Given the description of an element on the screen output the (x, y) to click on. 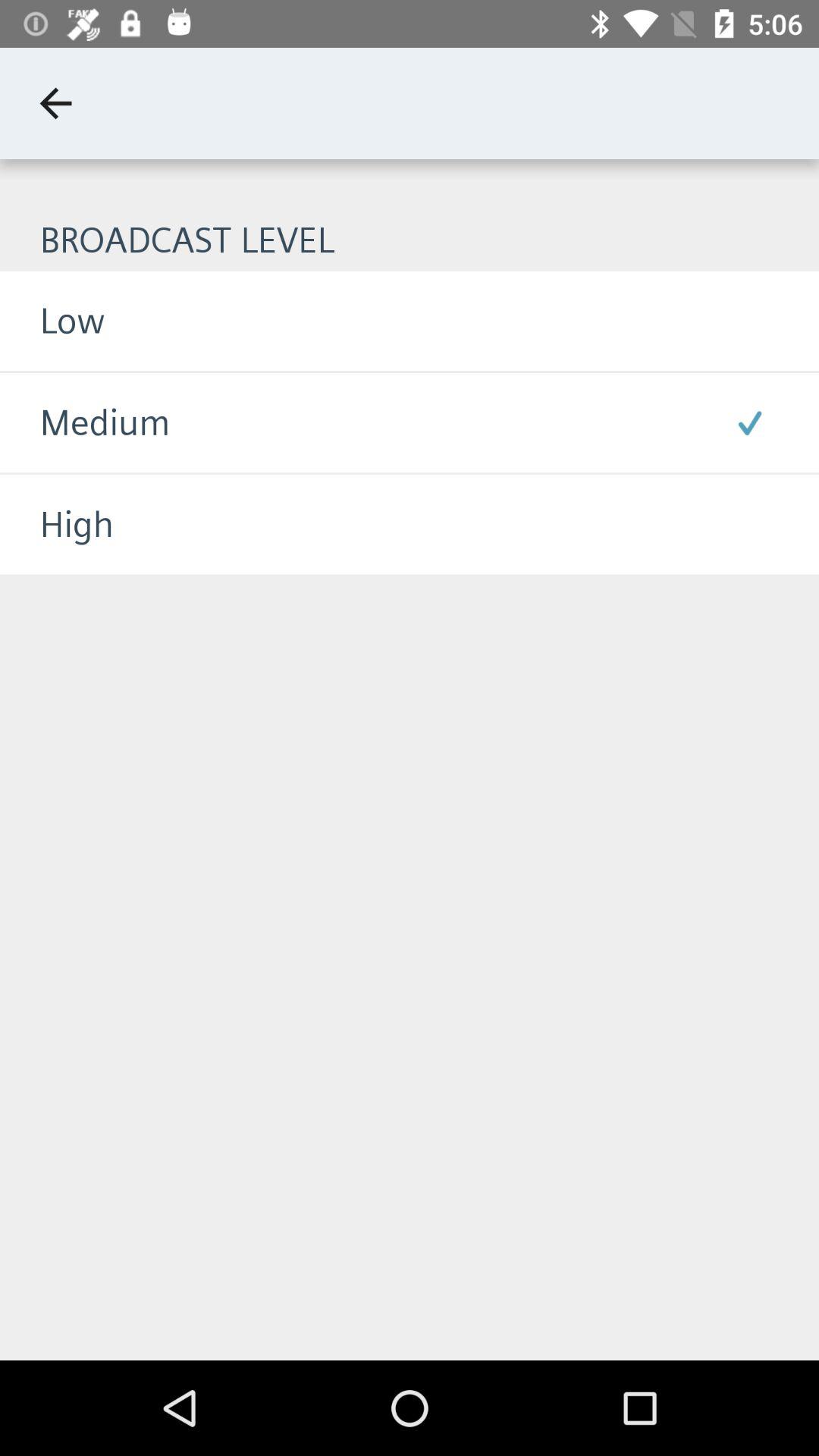
click icon above broadcast level (55, 103)
